Given the description of an element on the screen output the (x, y) to click on. 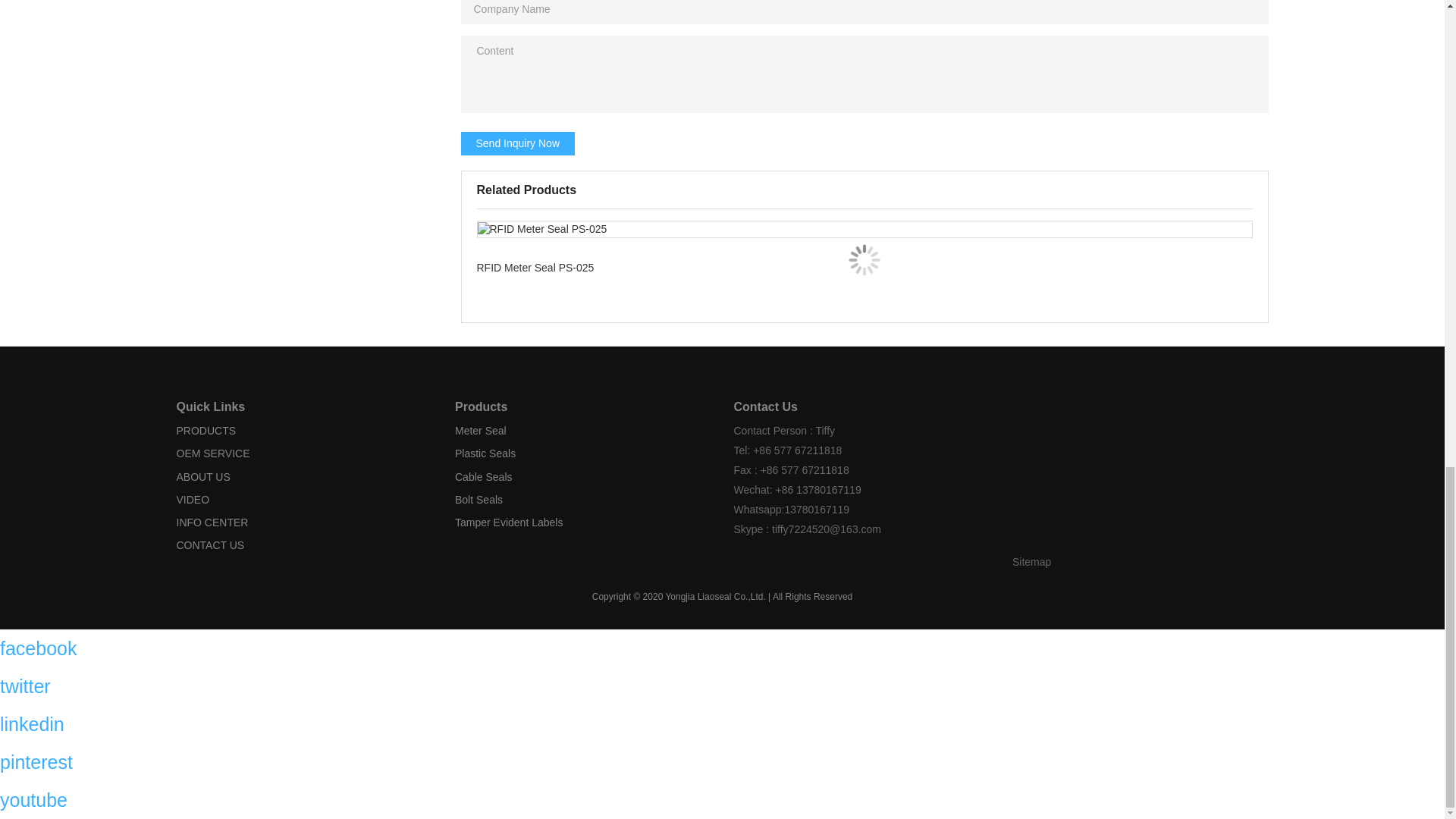
Send Inquiry Now (518, 143)
RFID Meter Seal PS-025 (864, 259)
